Given the description of an element on the screen output the (x, y) to click on. 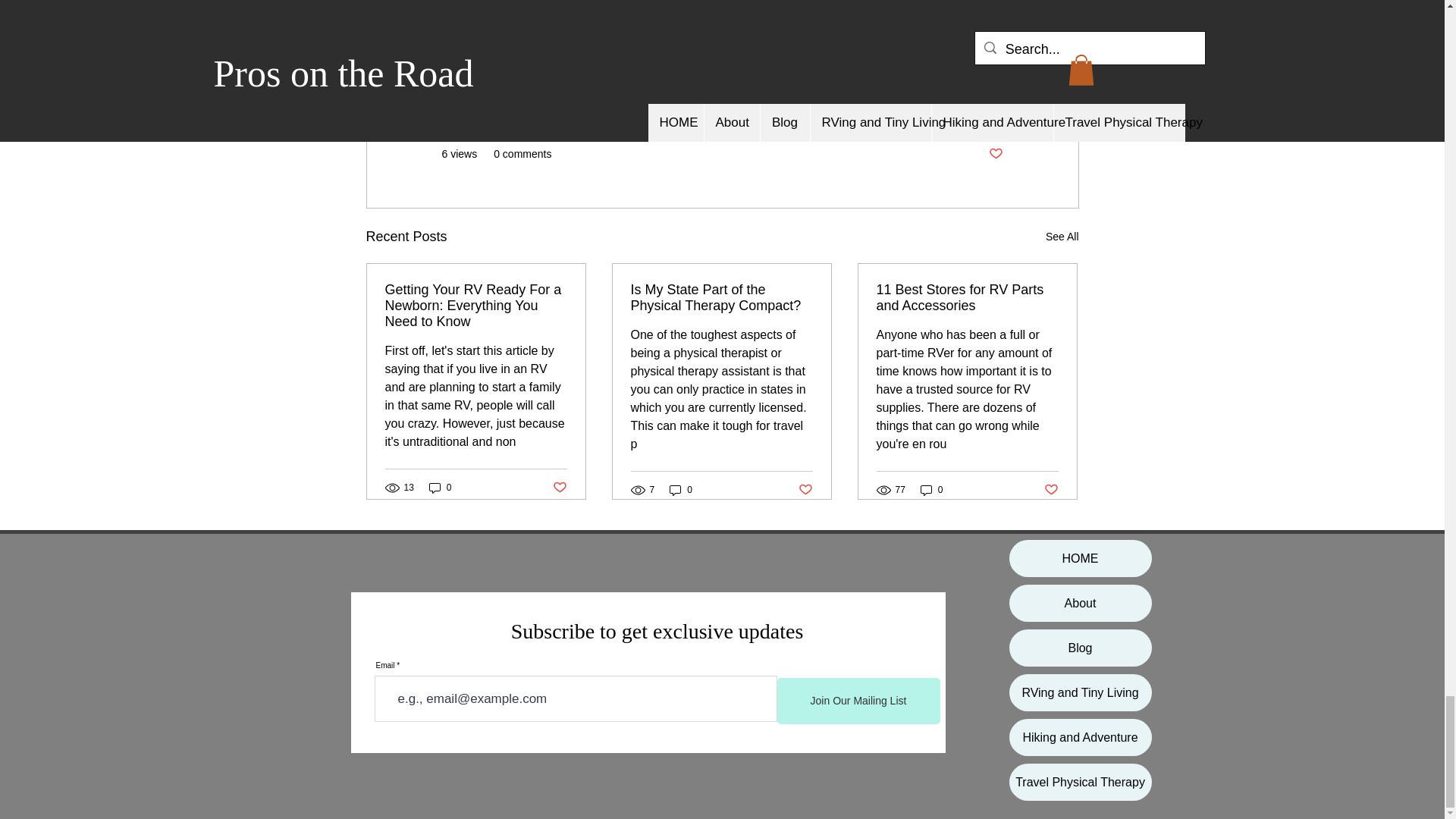
See All (1061, 237)
Travel Tips and Tricks (951, 109)
short term housing (494, 51)
Travel Physical Therapy (827, 109)
travel physical therapy (503, 22)
short term rentals (738, 22)
business traveler (882, 51)
Post not marked as liked (995, 154)
long-term stays (600, 51)
professional traveler (852, 22)
traveling healthcare professional (740, 51)
temporary housing (627, 22)
